Given the description of an element on the screen output the (x, y) to click on. 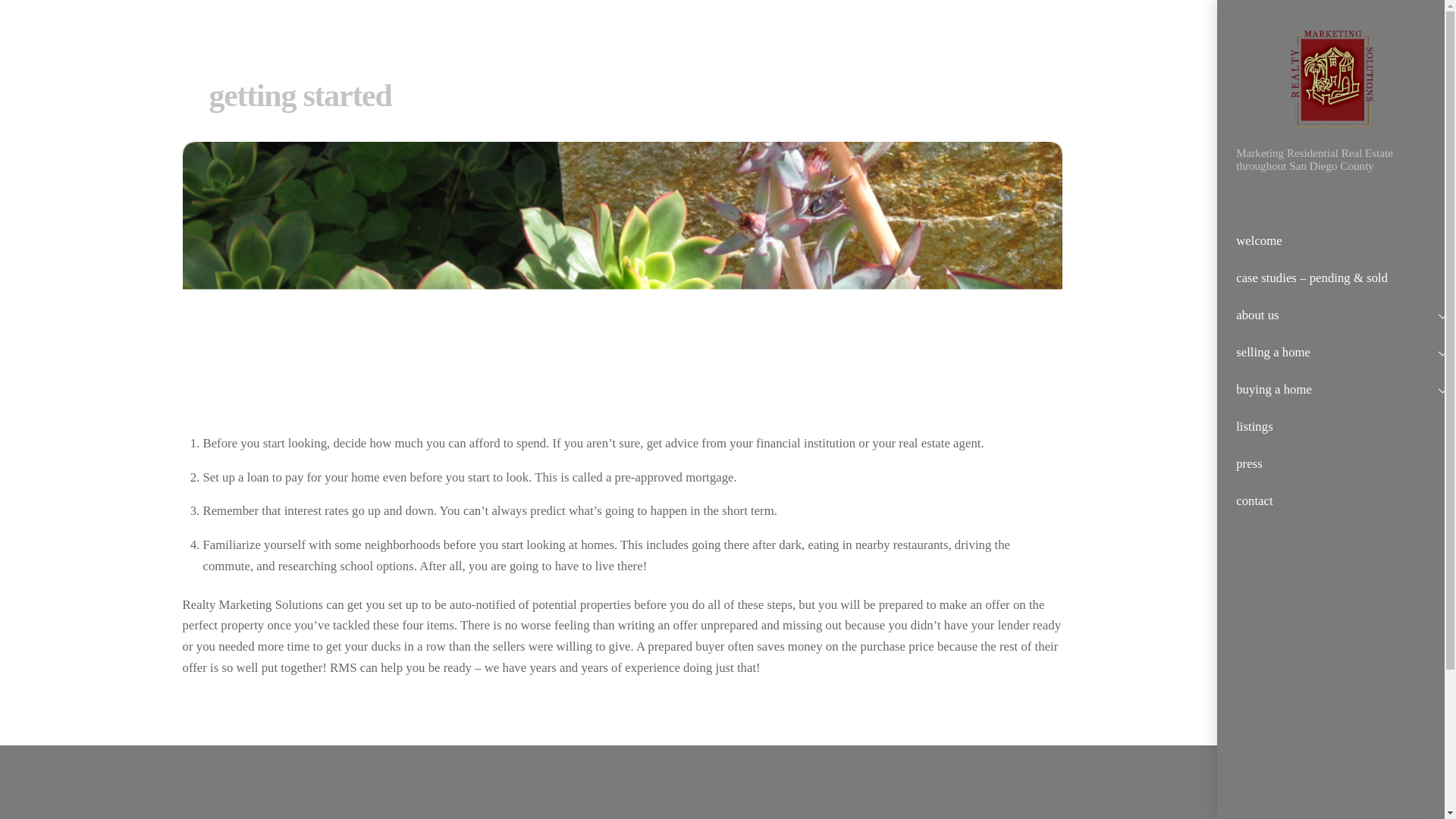
Realty Marketing Solutions (1330, 129)
press (1330, 464)
rms-website-logo (1330, 82)
welcome (1330, 241)
contact (1330, 500)
listings (1330, 426)
